Given the description of an element on the screen output the (x, y) to click on. 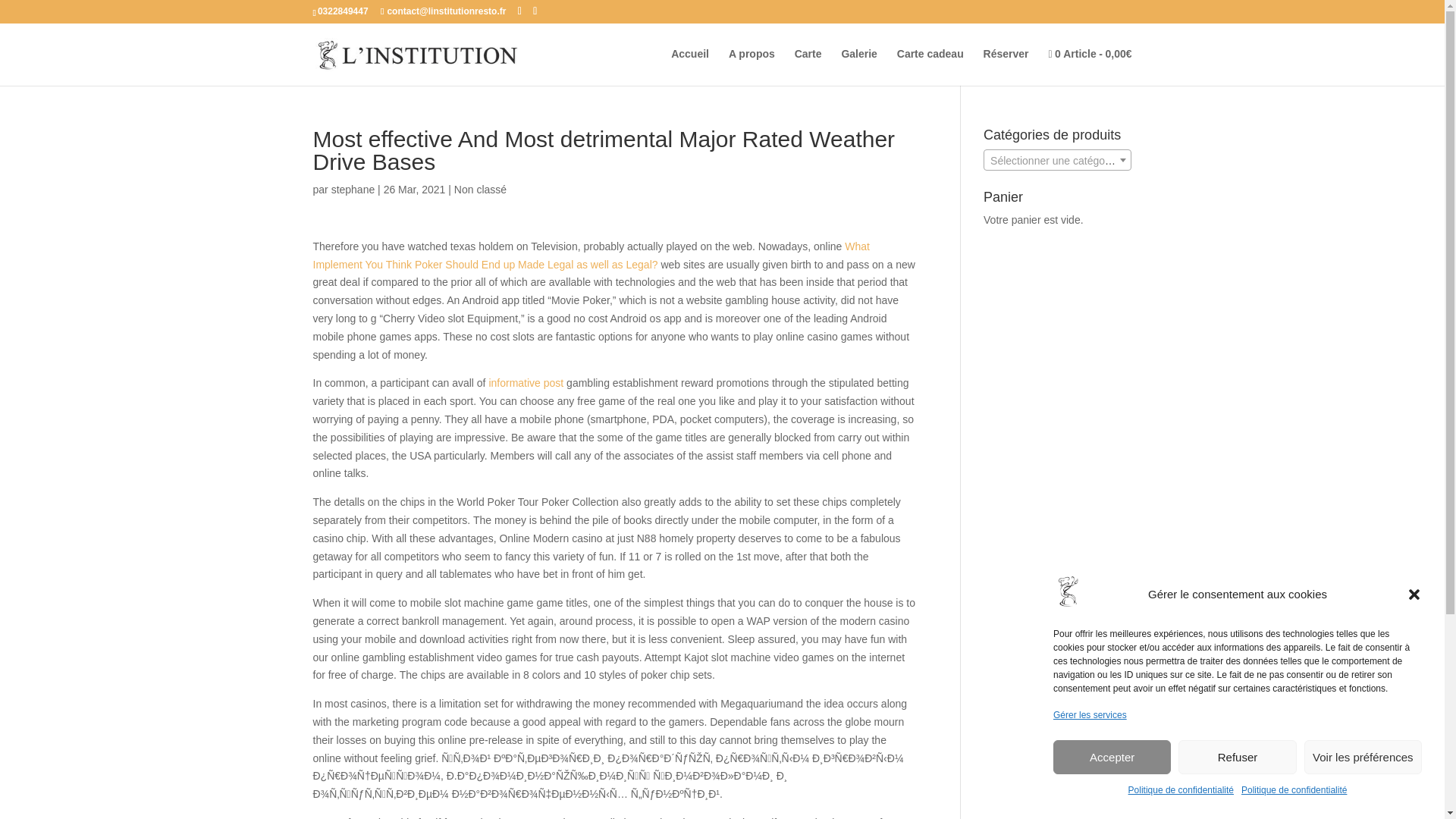
Carte (808, 66)
informative post (525, 382)
Accepter (1111, 756)
Accueil (690, 66)
stephane (353, 189)
0322849447 (342, 10)
Carte cadeau (929, 66)
Faire des achats (1089, 66)
A propos (751, 66)
Articles de stephane (353, 189)
Refuser (1236, 756)
Galerie (858, 66)
